Given the description of an element on the screen output the (x, y) to click on. 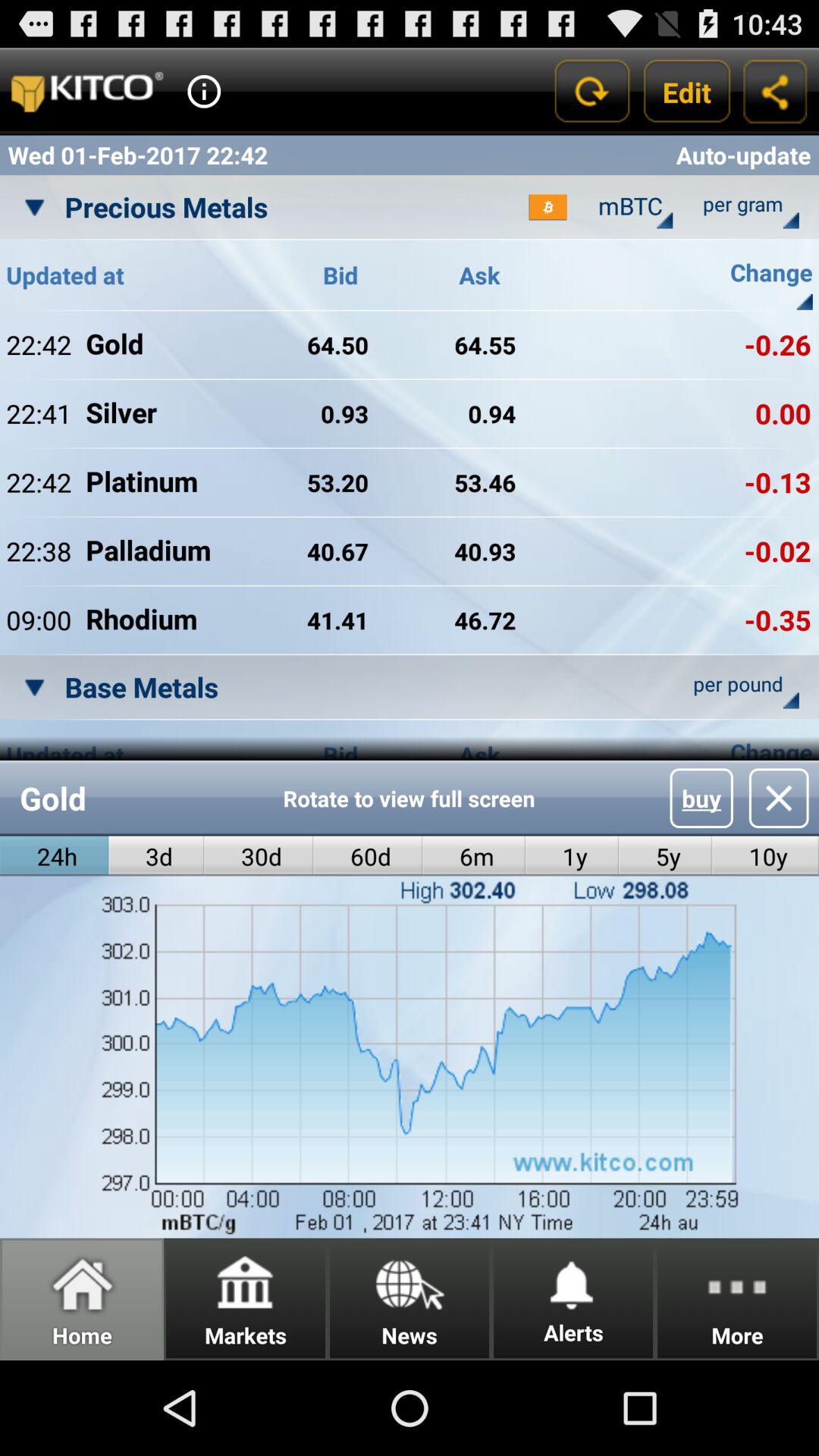
tap app above auto-update app (686, 91)
